Given the description of an element on the screen output the (x, y) to click on. 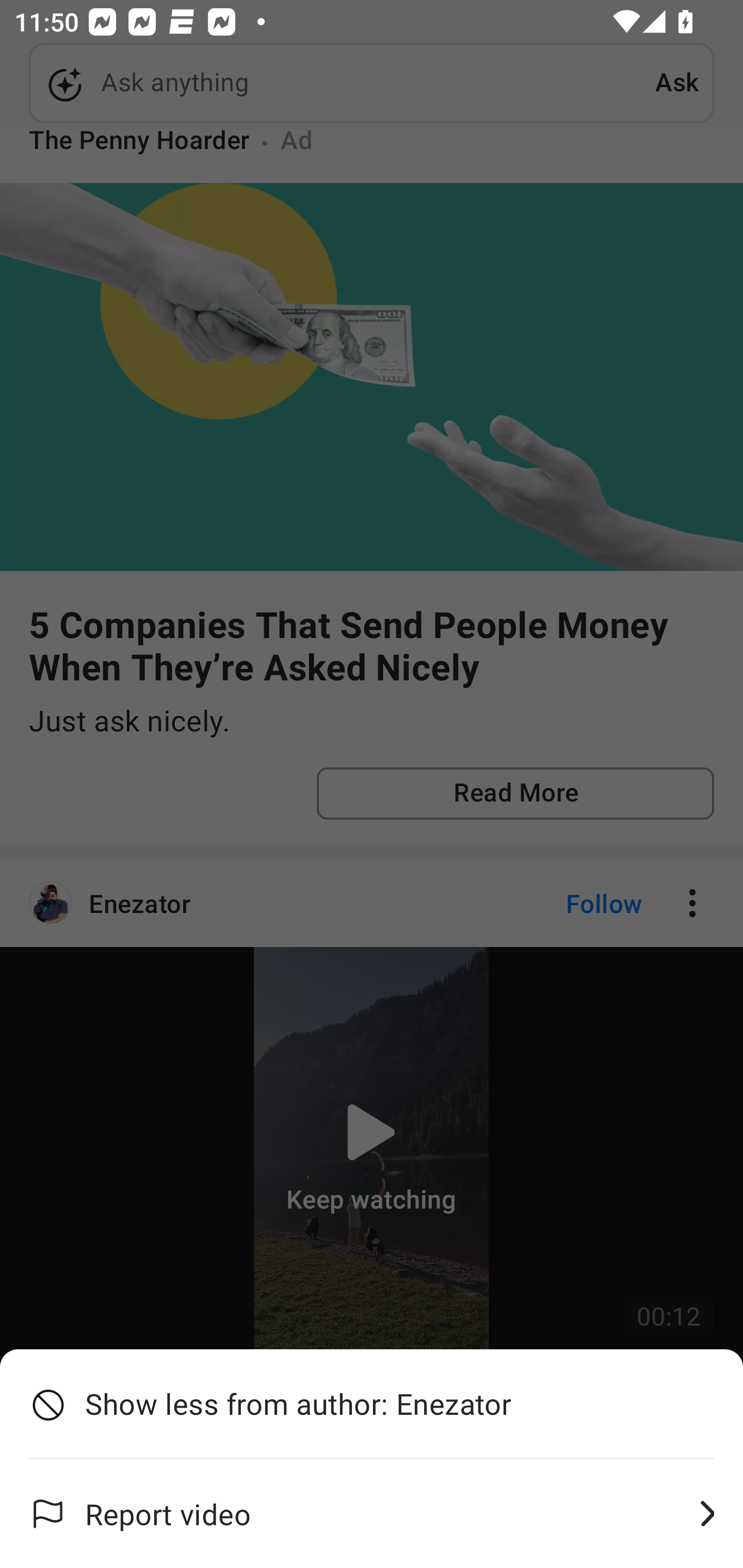
Show less from author: Enezator (371, 1404)
Report video (371, 1513)
